Given the description of an element on the screen output the (x, y) to click on. 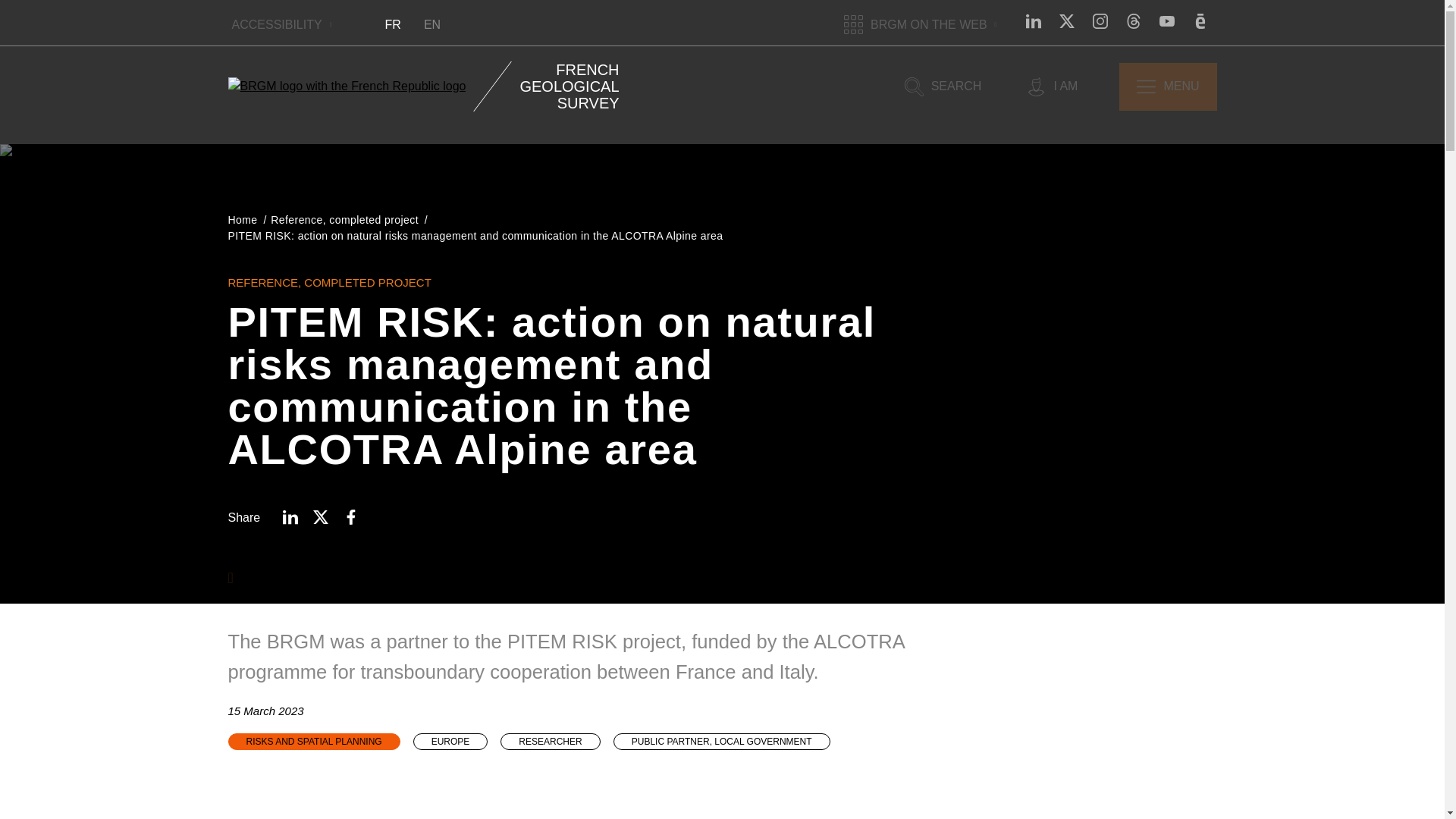
Threads (1133, 20)
LinkedIn (290, 516)
SEARCH (943, 86)
Instagram (1100, 20)
Facebook (350, 516)
I AM (1052, 86)
YouTube (1166, 20)
LinkedIn (1033, 20)
French geological survey (346, 85)
ACCESSIBILITY (280, 23)
